Given the description of an element on the screen output the (x, y) to click on. 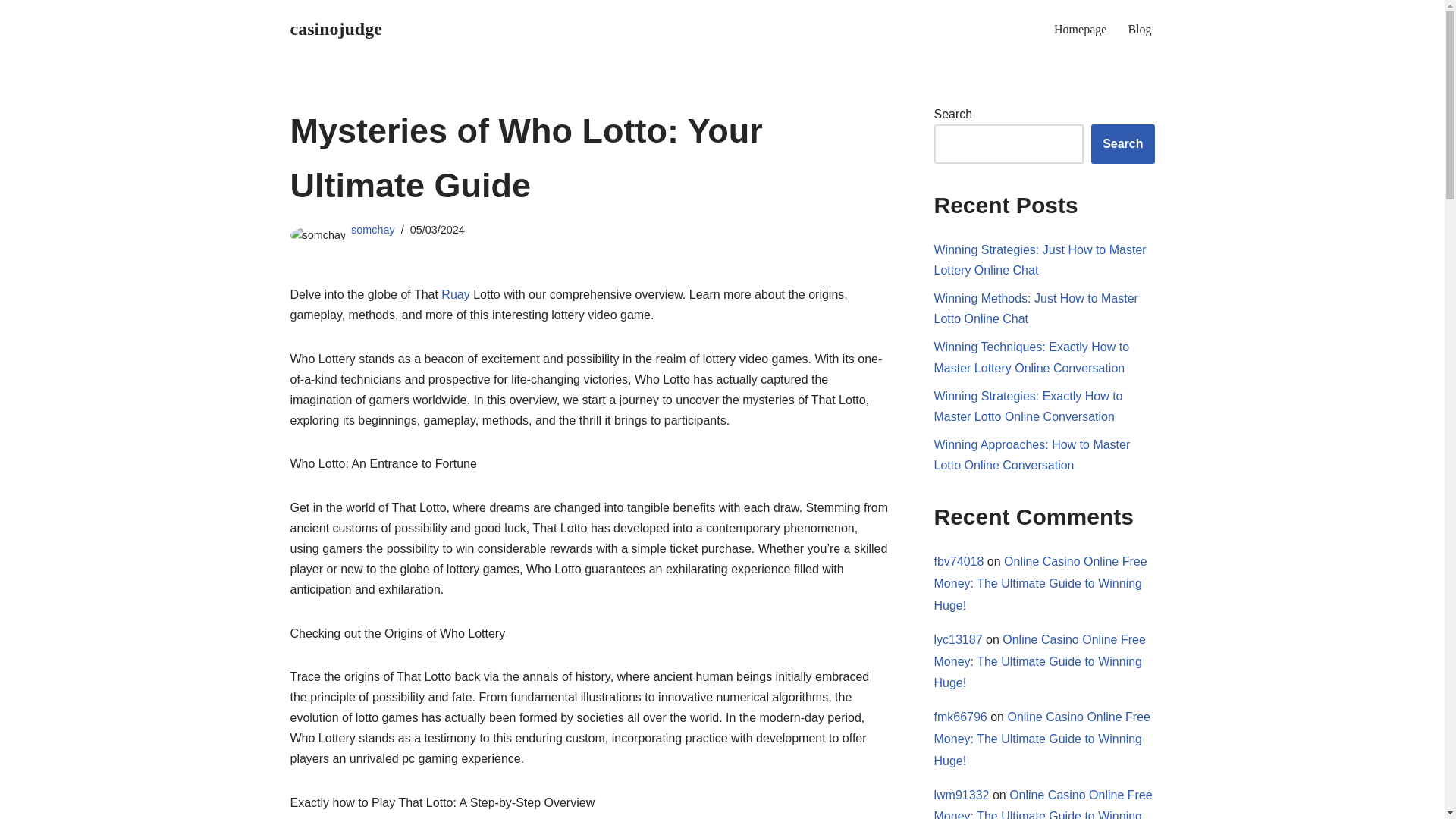
Winning Strategies: Just How to Master Lottery Online Chat (1040, 259)
Winning Methods: Just How to Master Lotto Online Chat (1036, 308)
lwm91332 (962, 794)
lyc13187 (958, 639)
casinojudge (335, 29)
Ruay (454, 294)
Homepage (1080, 28)
